Given the description of an element on the screen output the (x, y) to click on. 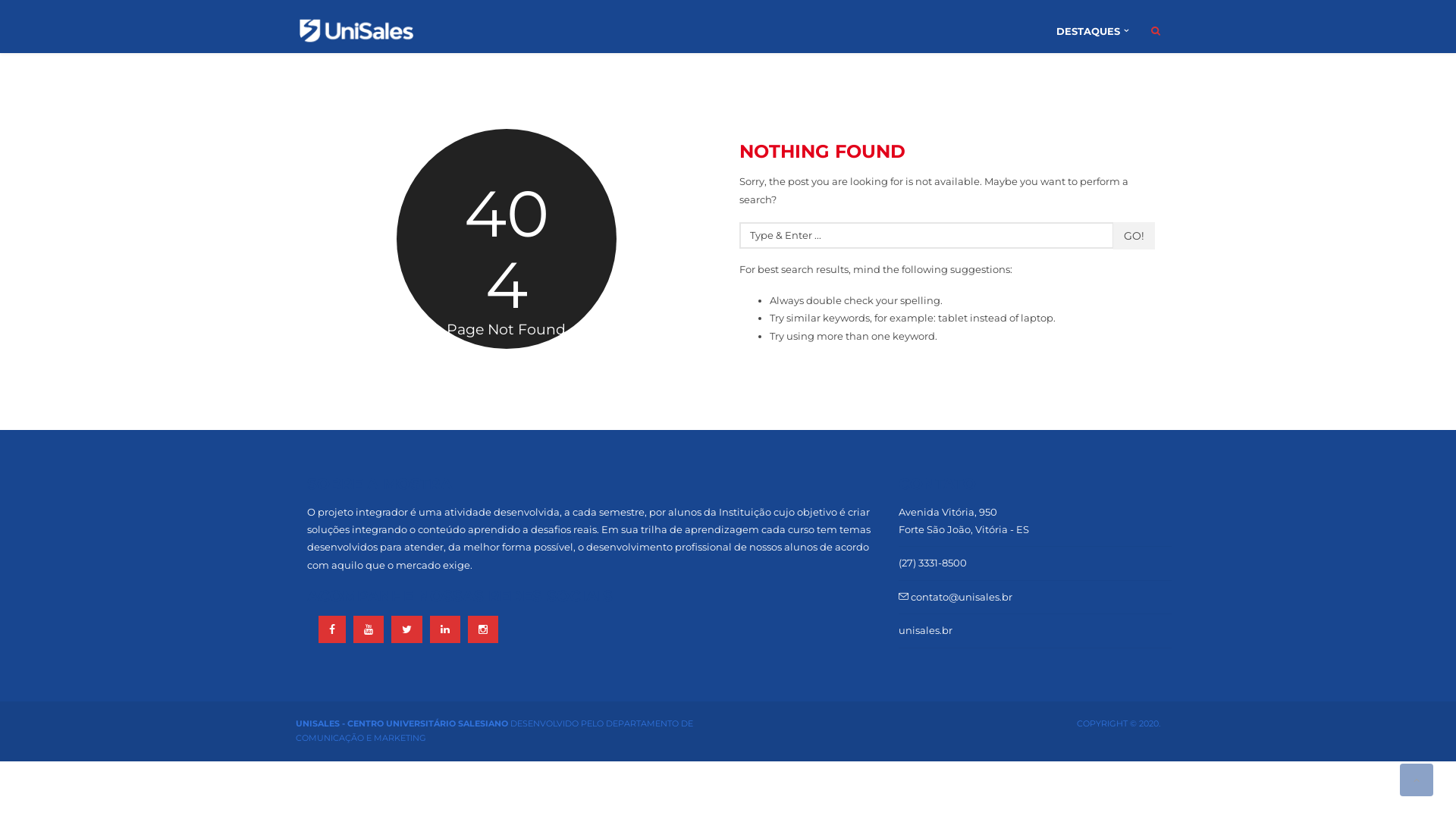
unisales.br Element type: text (925, 630)
GO! Element type: text (1133, 235)
contato@unisales.br Element type: text (955, 596)
(27) 3331-8500 Element type: text (932, 562)
DESTAQUES Element type: text (1091, 30)
